Given the description of an element on the screen output the (x, y) to click on. 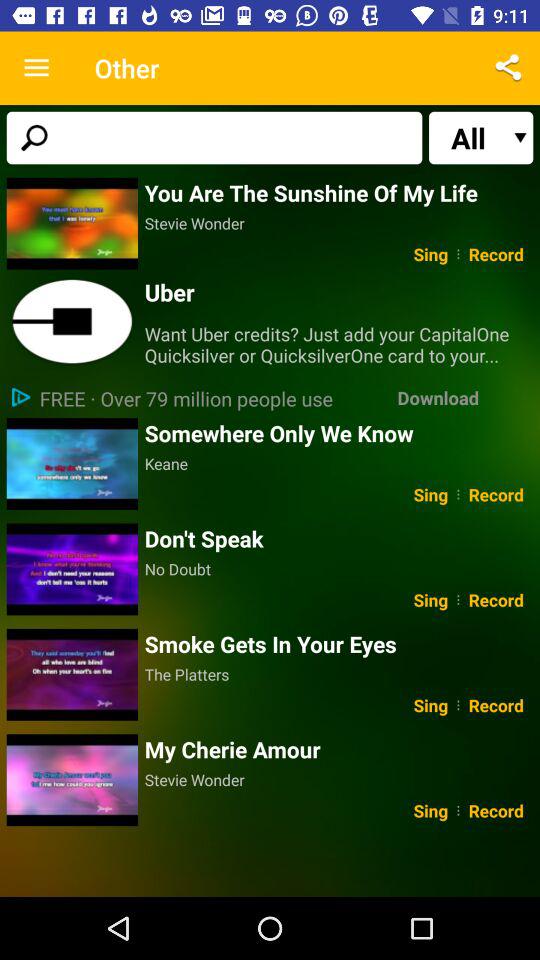
redirects to advertisement page (72, 322)
